Given the description of an element on the screen output the (x, y) to click on. 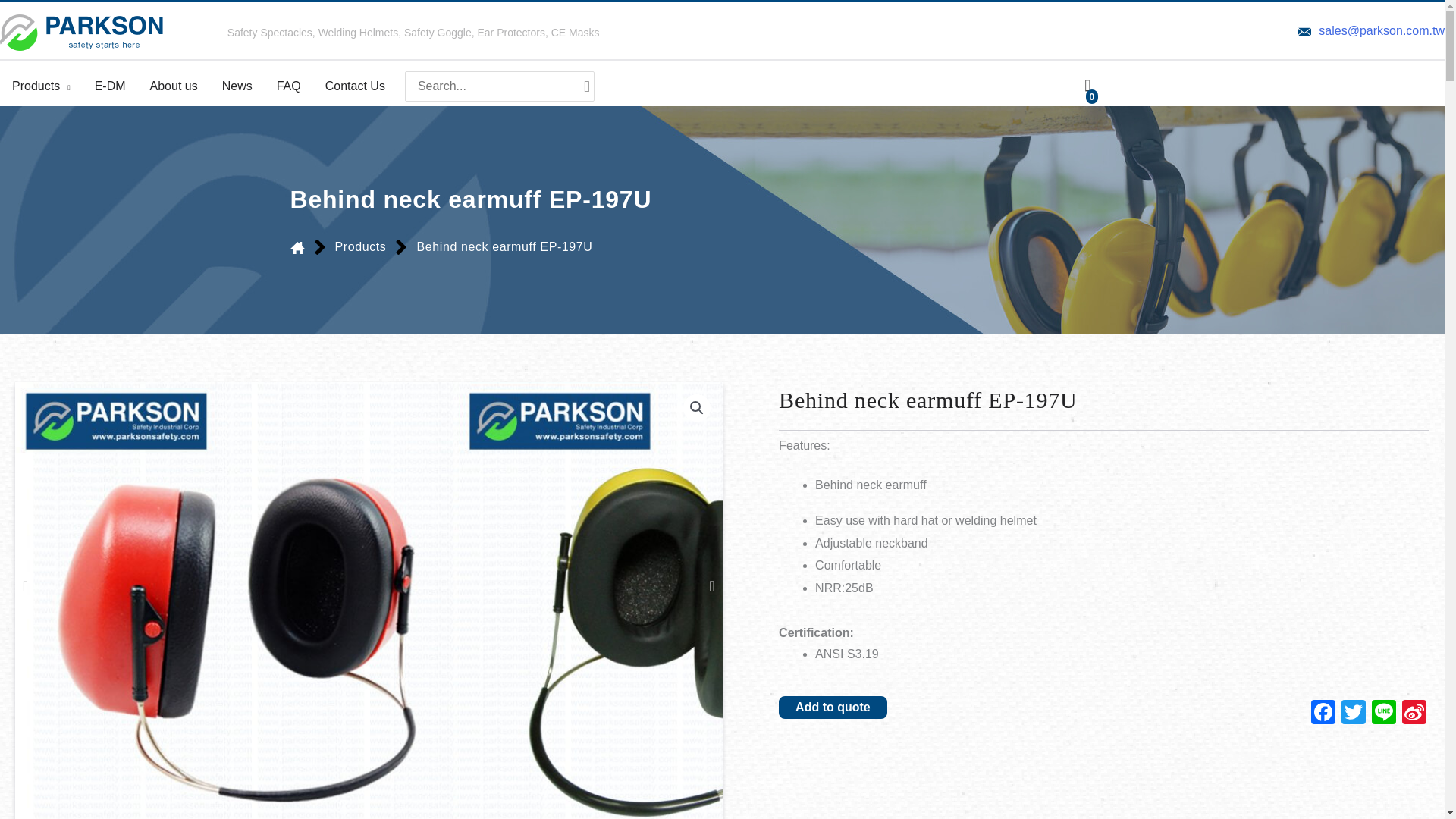
Twitter (1353, 714)
Products (41, 86)
Line (1383, 714)
Facebook (1322, 714)
Sina Weibo (1414, 714)
